Given the description of an element on the screen output the (x, y) to click on. 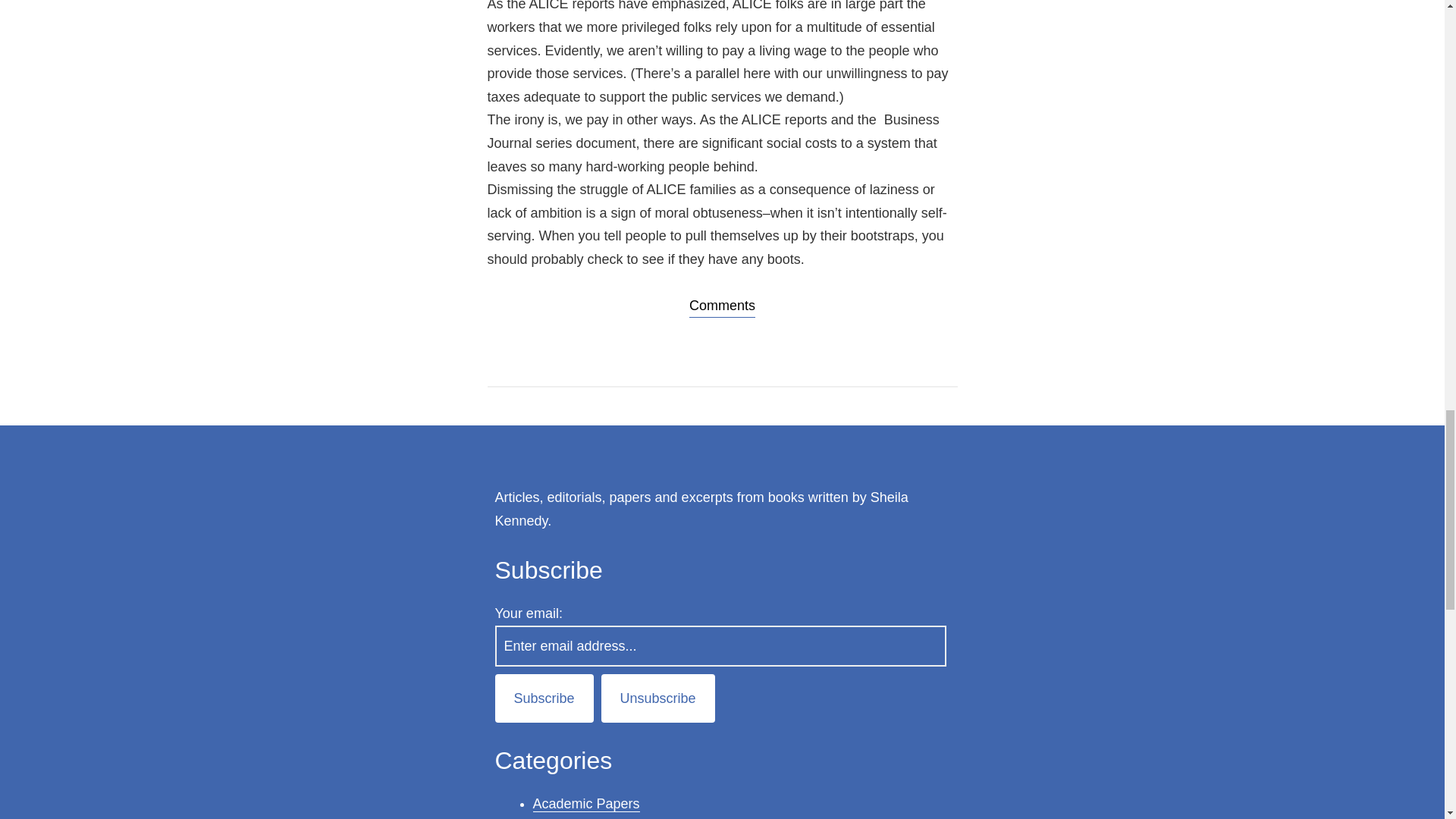
Comments (721, 306)
Academic Papers (585, 804)
Enter email address... (719, 646)
Unsubscribe (657, 698)
Unsubscribe (657, 698)
Subscribe (543, 698)
Subscribe (543, 698)
